Given the description of an element on the screen output the (x, y) to click on. 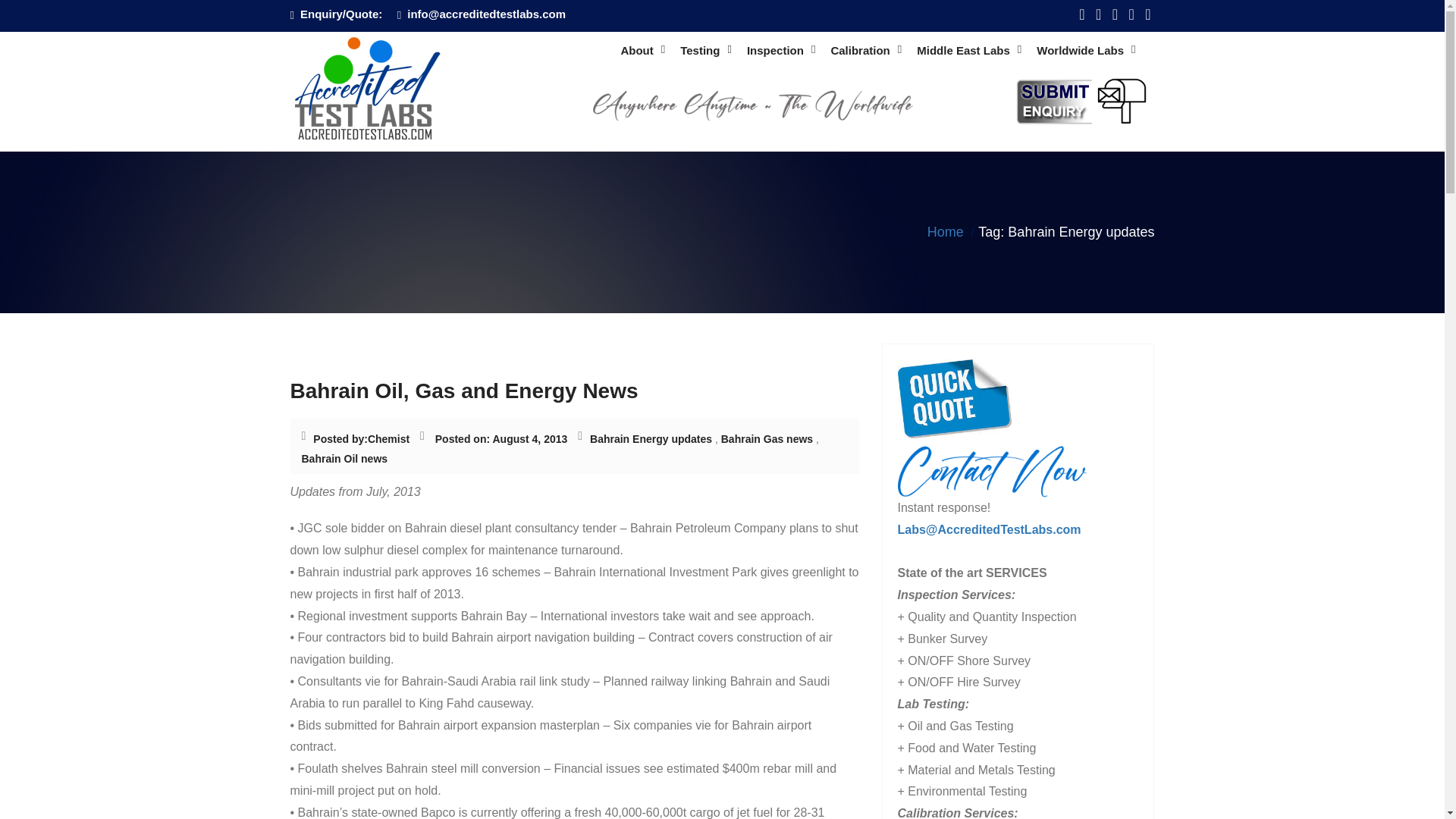
Testing (705, 51)
About (642, 51)
Inspection (781, 51)
Testing (705, 51)
About (642, 51)
